Given the description of an element on the screen output the (x, y) to click on. 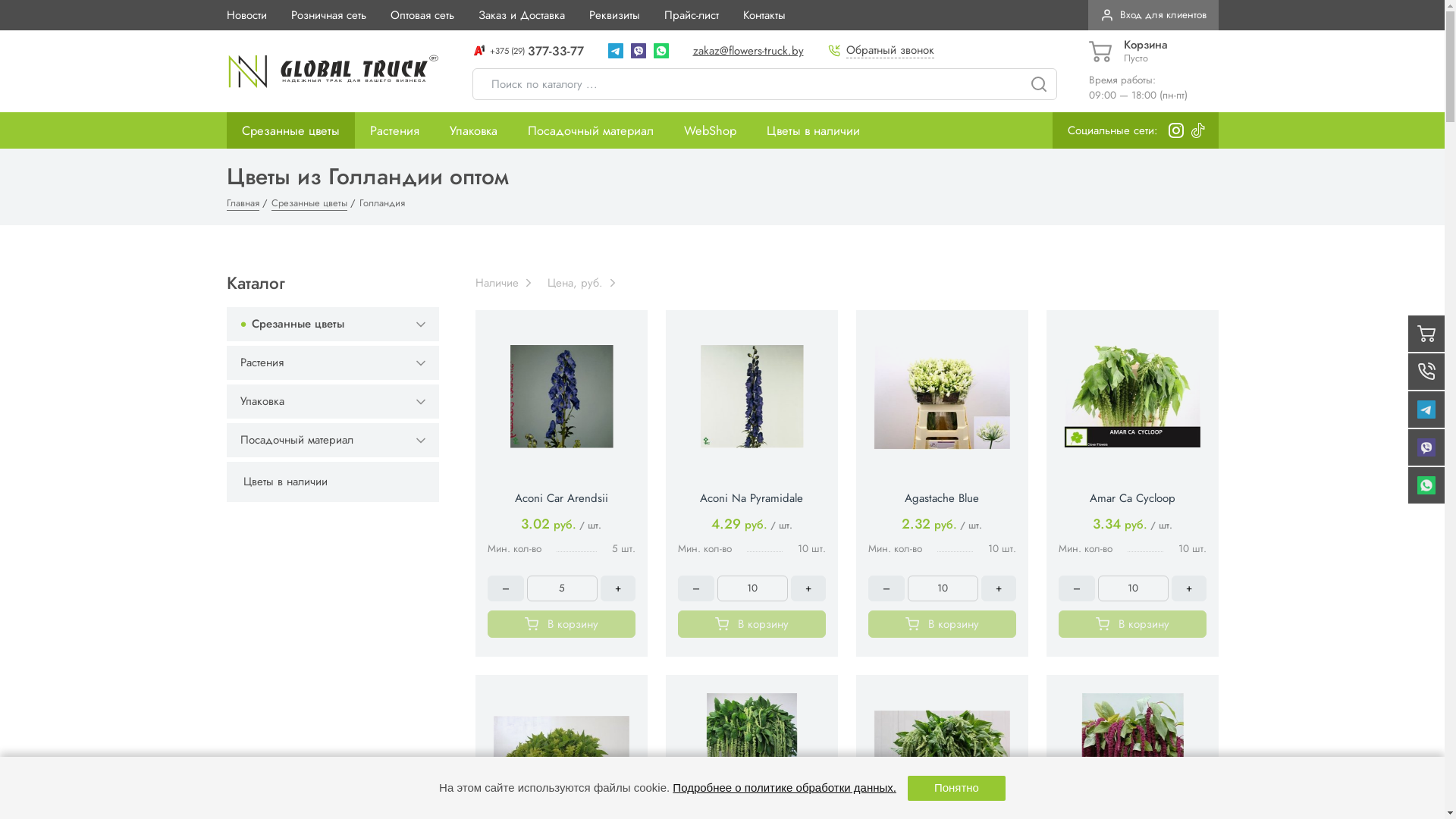
Viber Element type: hover (638, 50)
zakaz@flowers-truck.by Element type: text (748, 50)
Amar Ca Cycloop Element type: text (1131, 498)
+ Element type: text (1187, 588)
WebShop Element type: text (709, 130)
Aconi Na Pyramidale Element type: text (751, 498)
Aconi Car Arendsii Element type: text (560, 498)
+ Element type: text (807, 588)
+ Element type: text (998, 588)
+ Element type: text (617, 588)
WhatsApp Element type: hover (660, 50)
Telegram Element type: hover (615, 50)
Agastache Blue Element type: text (941, 498)
+375 (29)
377-33-77 Element type: text (527, 50)
